Given the description of an element on the screen output the (x, y) to click on. 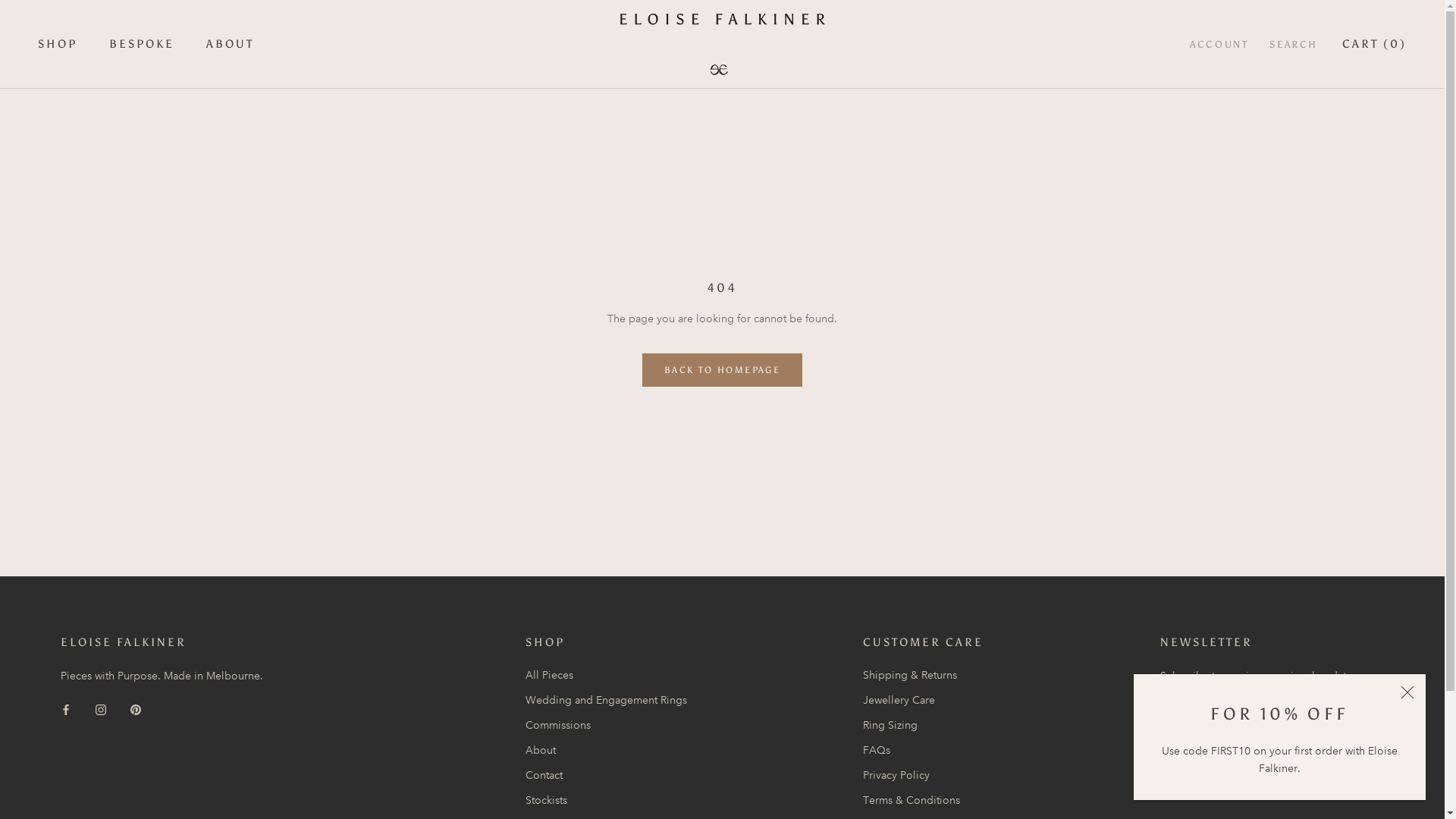
BACK TO HOMEPAGE Element type: text (722, 369)
ACCOUNT Element type: text (1218, 44)
Ring Sizing Element type: text (922, 725)
Shipping & Returns Element type: text (922, 675)
Stockists Element type: text (606, 800)
Contact Element type: text (606, 775)
Privacy Policy Element type: text (922, 775)
ABOUT
ABOUT Element type: text (230, 43)
CART (0) Element type: text (1374, 43)
Commissions Element type: text (606, 725)
Terms & Conditions Element type: text (922, 800)
About Element type: text (606, 750)
SEARCH Element type: text (1293, 44)
All Pieces Element type: text (606, 675)
BESPOKE Element type: text (141, 43)
SUBSCRIBE Element type: text (1215, 763)
SHOP
SHOP Element type: text (57, 43)
Wedding and Engagement Rings Element type: text (606, 700)
FAQs Element type: text (922, 750)
Jewellery Care Element type: text (922, 700)
